Given the description of an element on the screen output the (x, y) to click on. 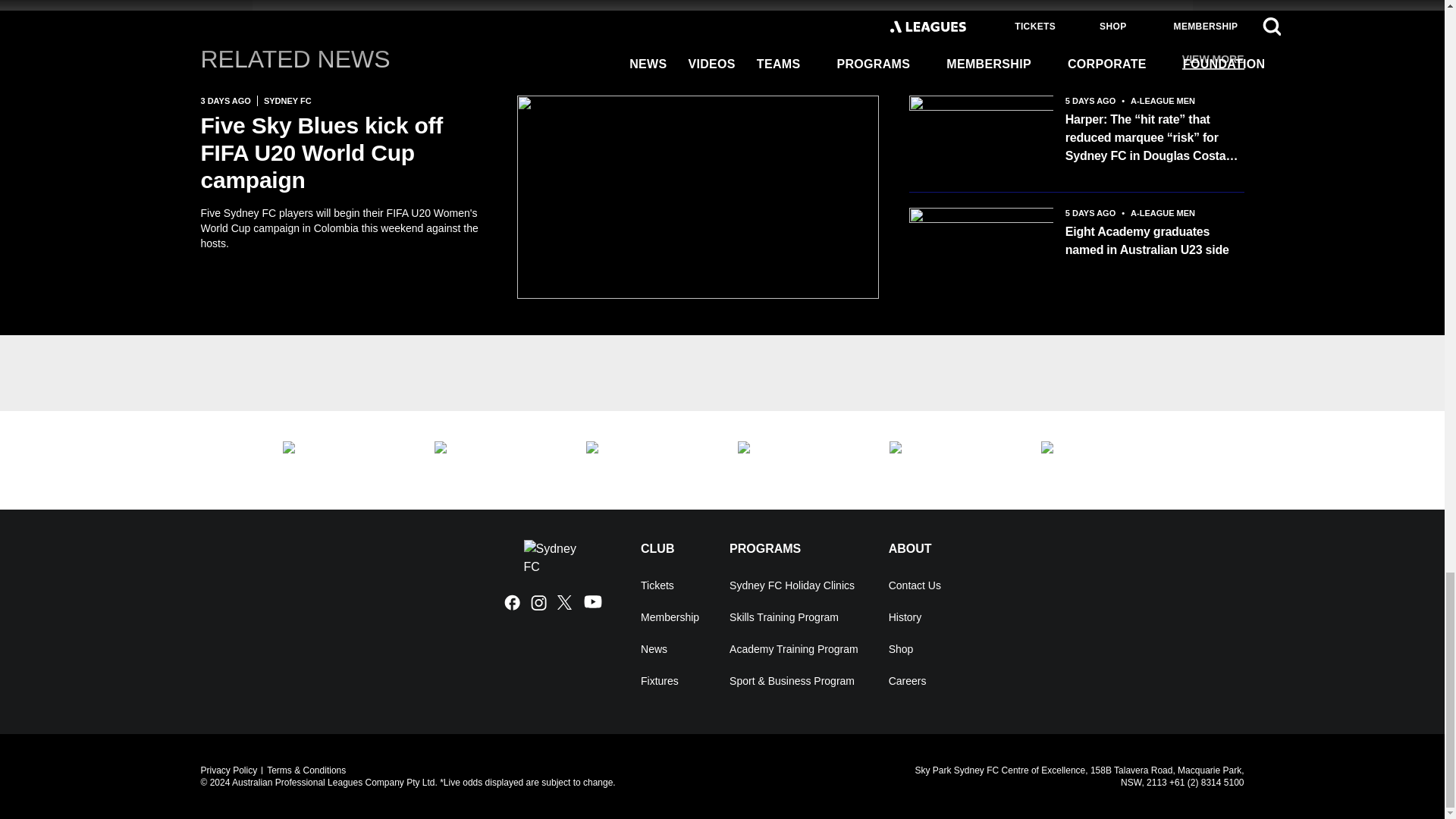
Macquarie Uni (342, 460)
Kennards (493, 460)
Navarra (1101, 460)
McDonalds (797, 460)
Under Armour (645, 460)
Carma (949, 460)
